Given the description of an element on the screen output the (x, y) to click on. 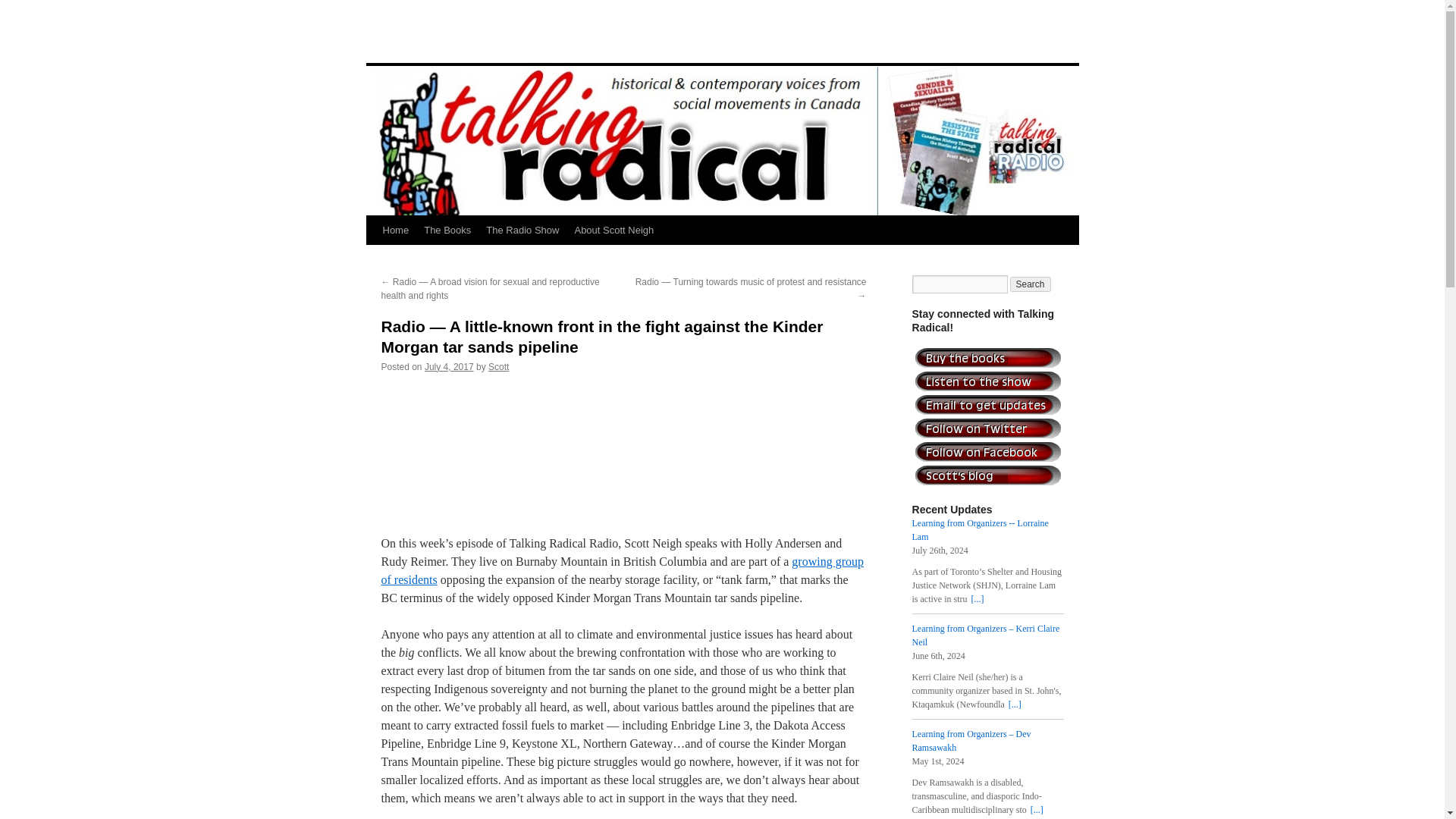
Scott (497, 366)
Home (395, 230)
1:15 pm (449, 366)
Learning from Organizers -- Lorraine Lam (979, 529)
About Scott Neigh (613, 230)
The Books (447, 230)
July 4, 2017 (449, 366)
growing group of residents (621, 570)
The Radio Show (522, 230)
Search (1030, 283)
Learning from Organizers -- Lorraine Lam (977, 598)
View all posts by Scott (497, 366)
